Given the description of an element on the screen output the (x, y) to click on. 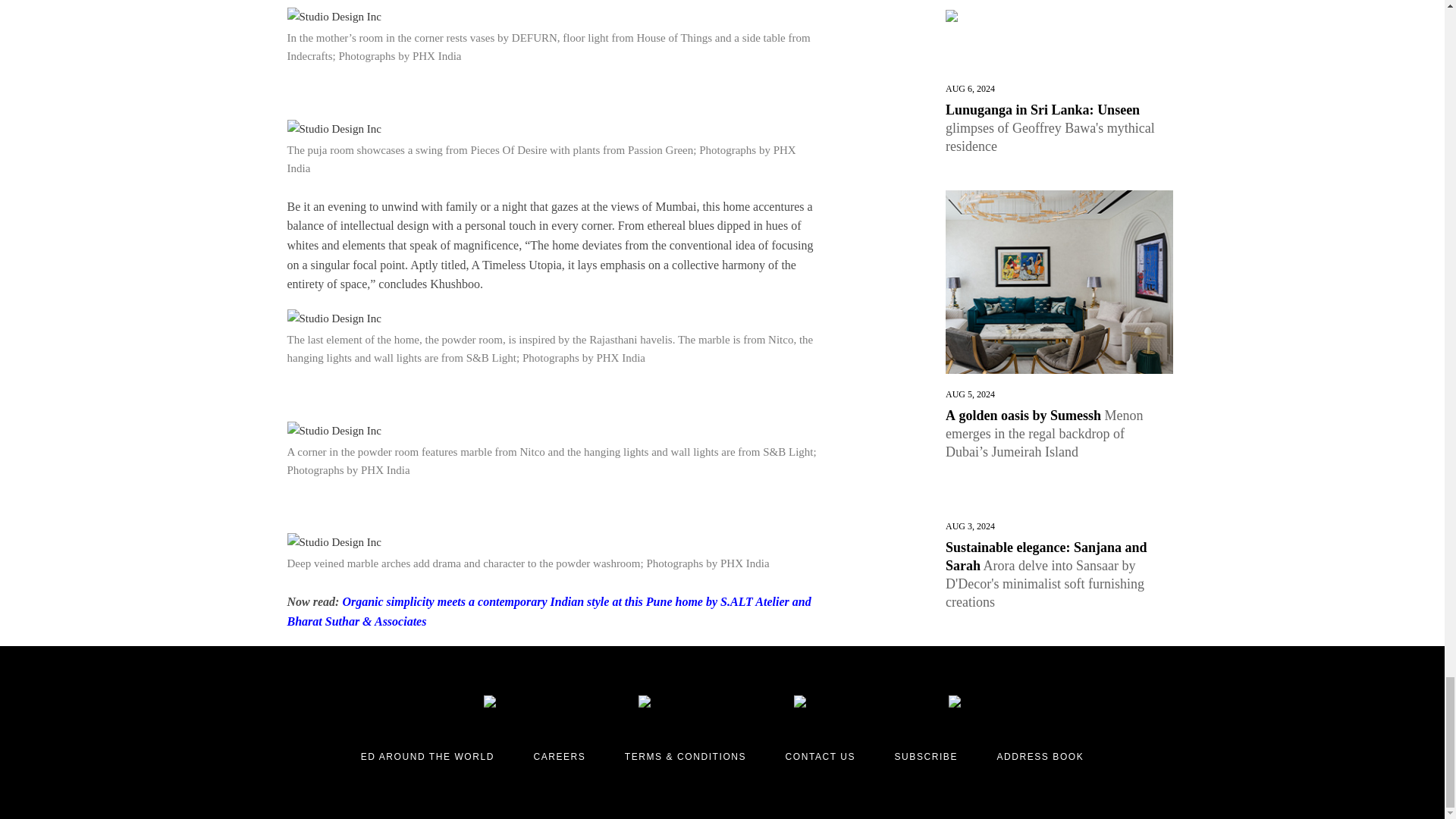
CAREERS (558, 756)
ED AROUND THE WORLD (428, 756)
